Given the description of an element on the screen output the (x, y) to click on. 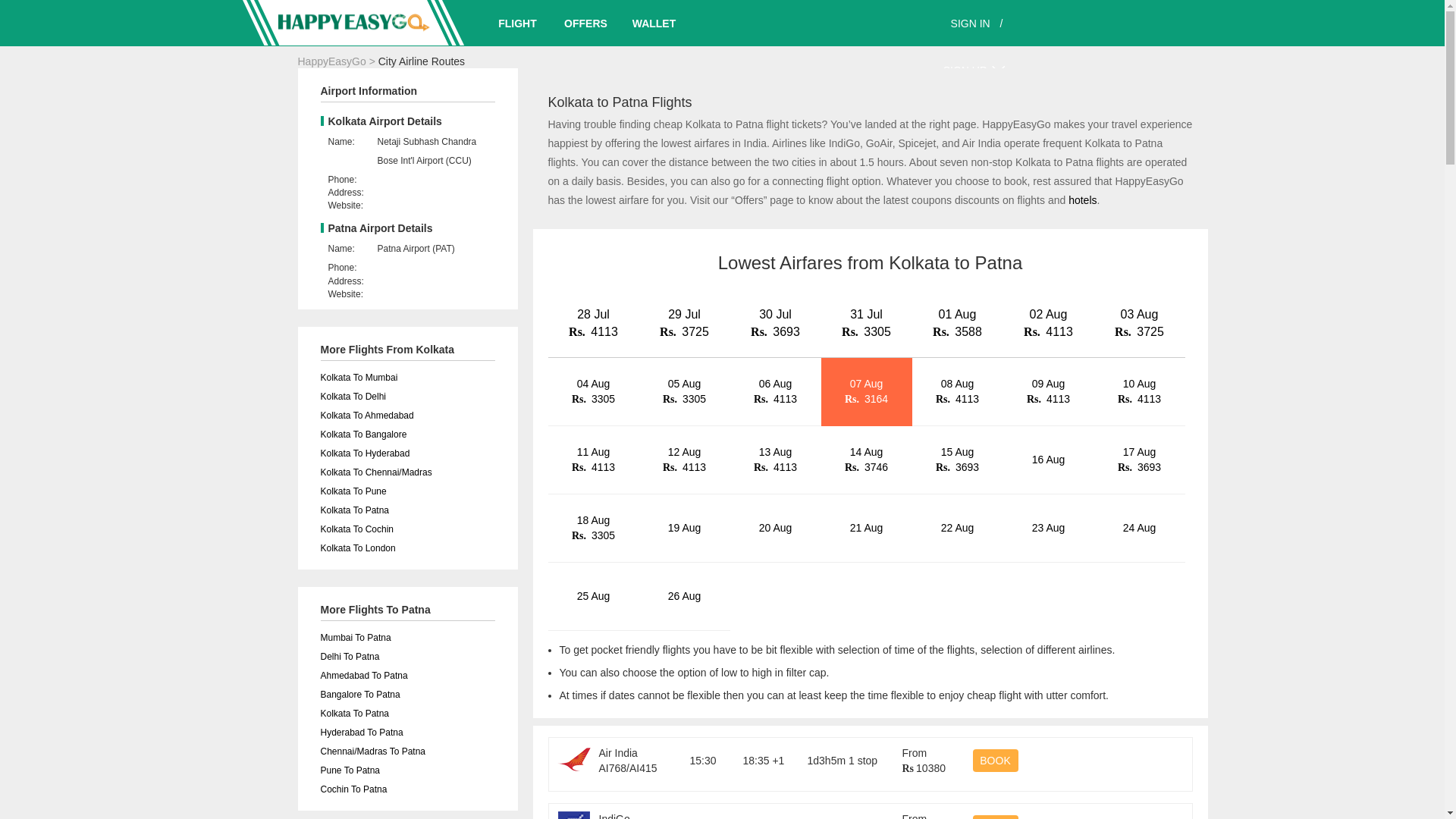
Pune To Patna (350, 769)
Mumbai To Patna (355, 637)
Kolkata To Patna (354, 510)
Kolkata To Mumbai (358, 377)
WALLET (654, 22)
Kolkata To London (357, 547)
Bangalore To Patna (359, 694)
Lowest Airfares in India (353, 22)
Kolkata To Ahmedabad (366, 415)
Kolkata To Hyderabad (364, 452)
Hyderabad To Patna (361, 732)
Kolkata To Cochin (356, 529)
SIGN UP (965, 69)
Kolkata To Delhi (352, 396)
Delhi To Patna (349, 656)
